Given the description of an element on the screen output the (x, y) to click on. 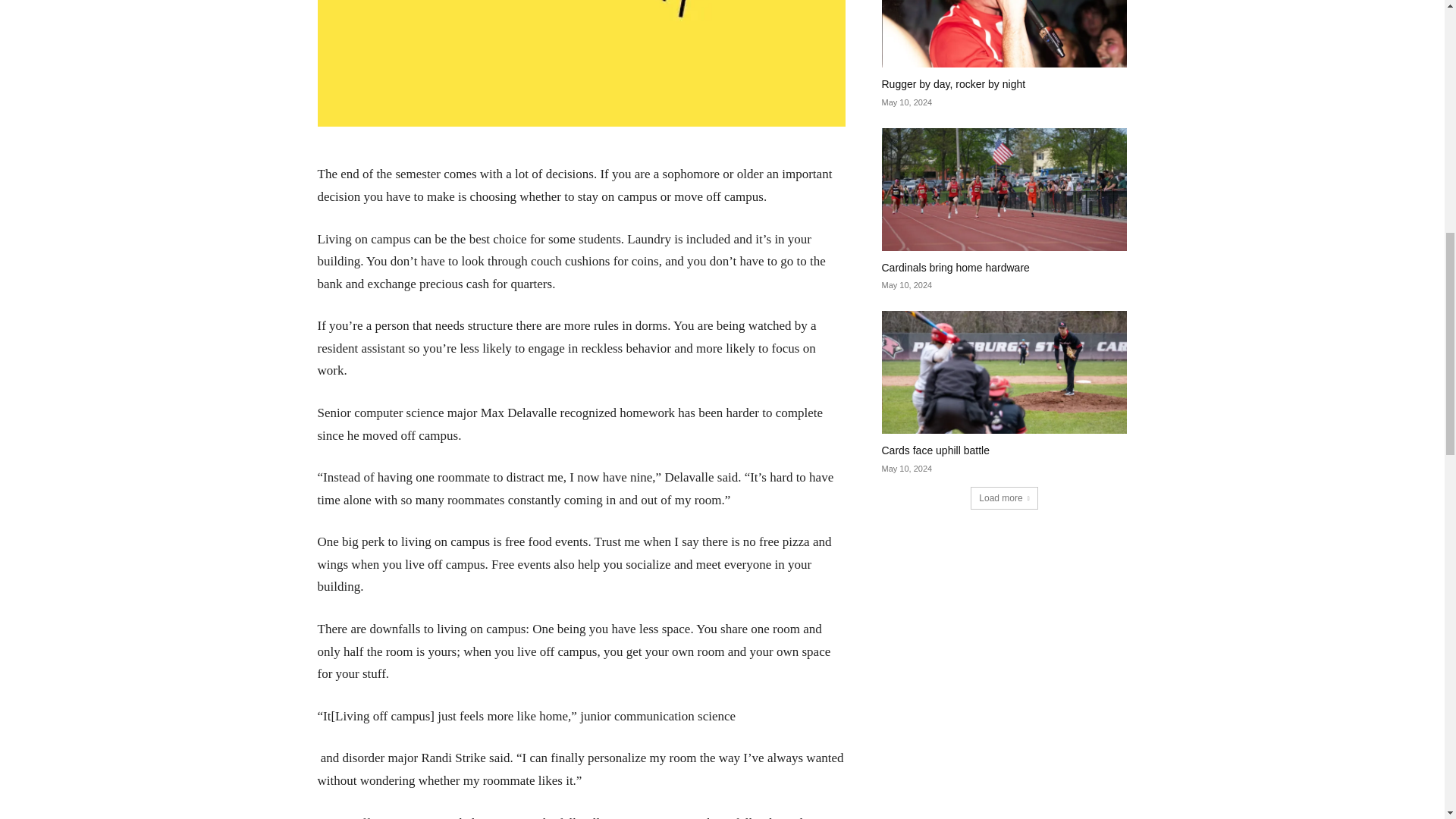
Opinion Icon (580, 63)
